Given the description of an element on the screen output the (x, y) to click on. 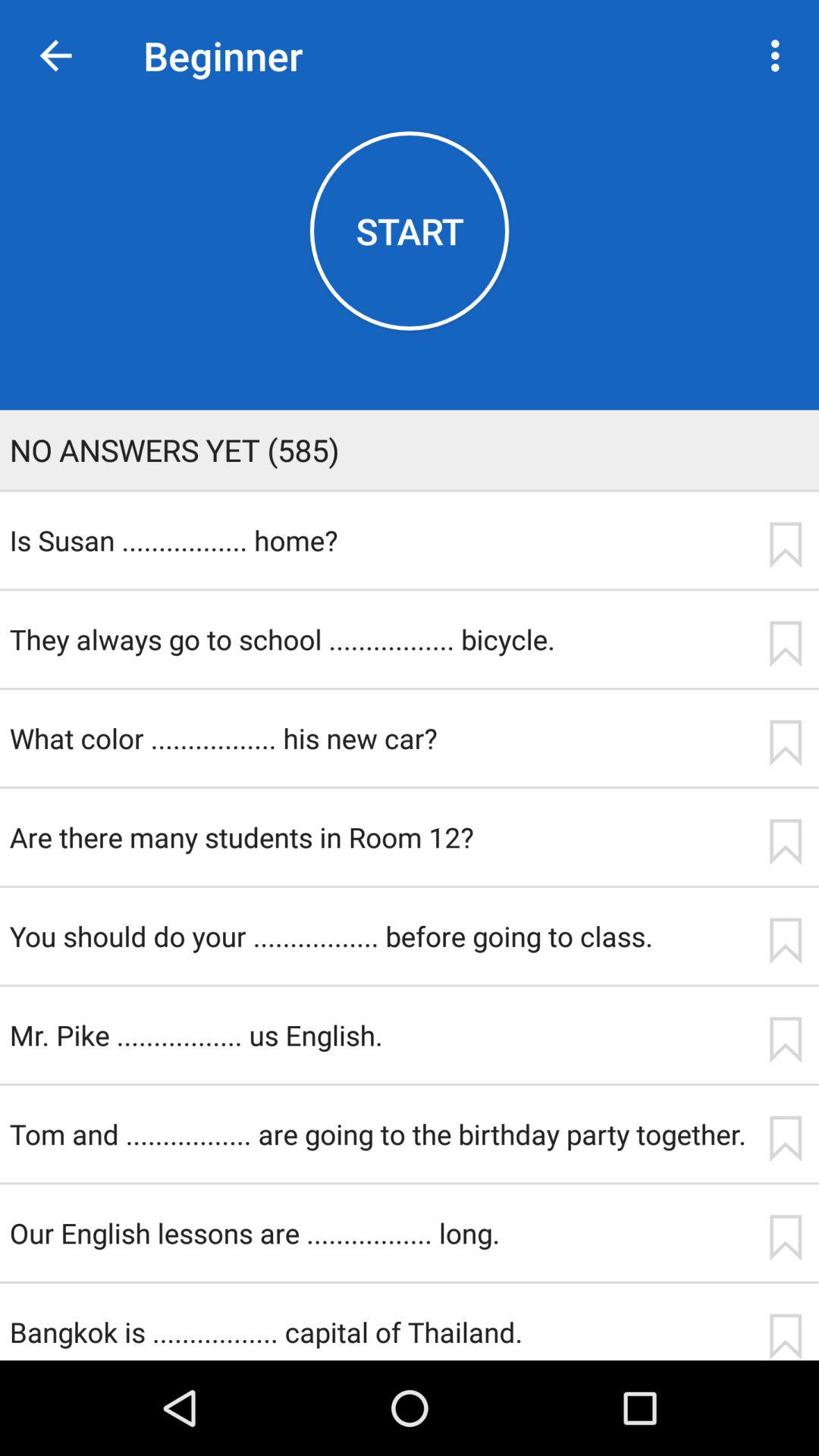
select the item next to you should do icon (784, 940)
